Given the description of an element on the screen output the (x, y) to click on. 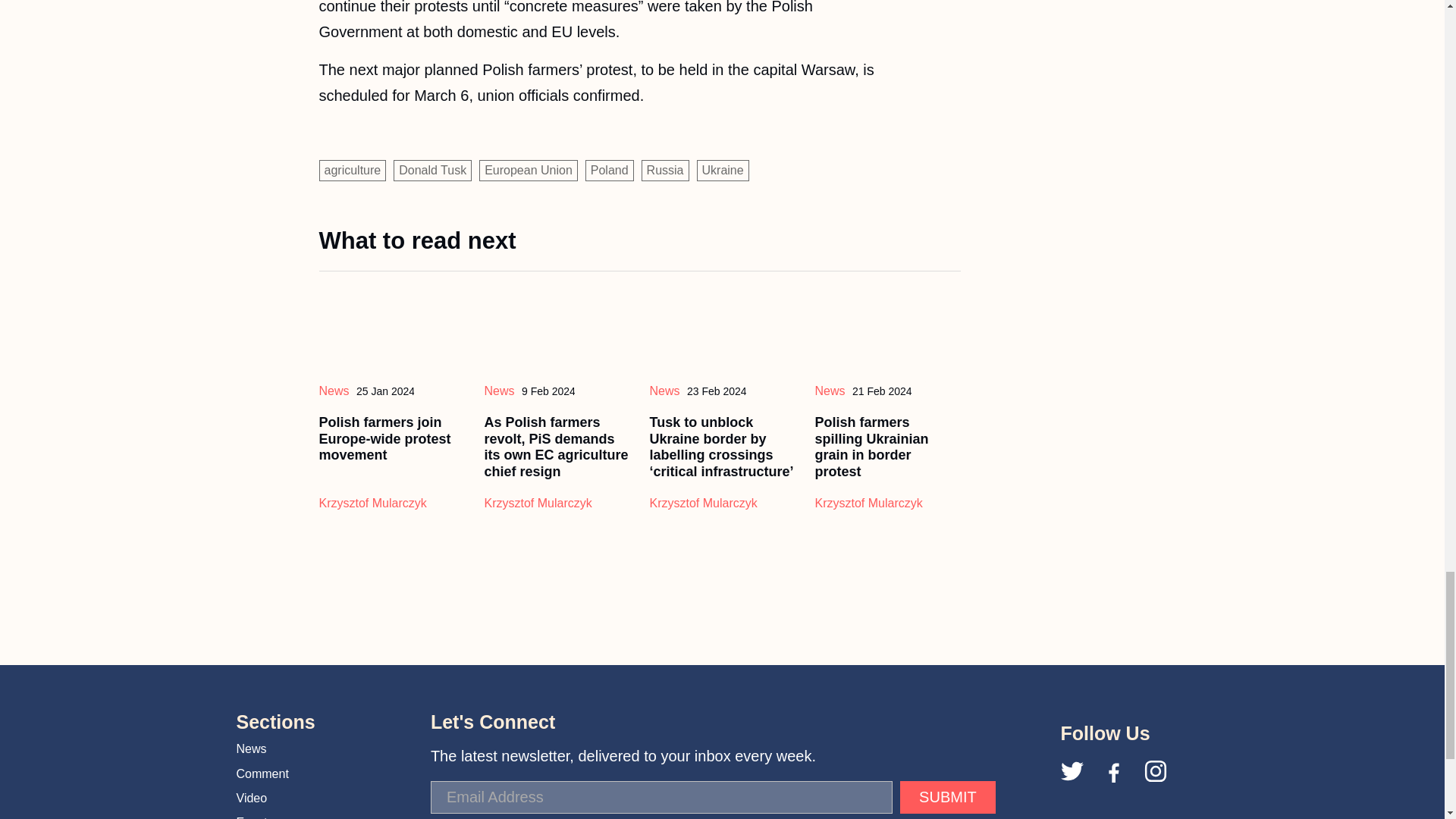
Russia (665, 169)
Polish farmers join Europe-wide protest movement (383, 438)
European Union (528, 169)
agriculture (351, 169)
News (498, 390)
Donald Tusk (432, 169)
Krzysztof Mularczyk (372, 502)
Ukraine (723, 169)
News (664, 390)
Krzysztof Mularczyk (537, 502)
News (333, 390)
Poland (609, 169)
Krzysztof Mularczyk (703, 502)
